Given the description of an element on the screen output the (x, y) to click on. 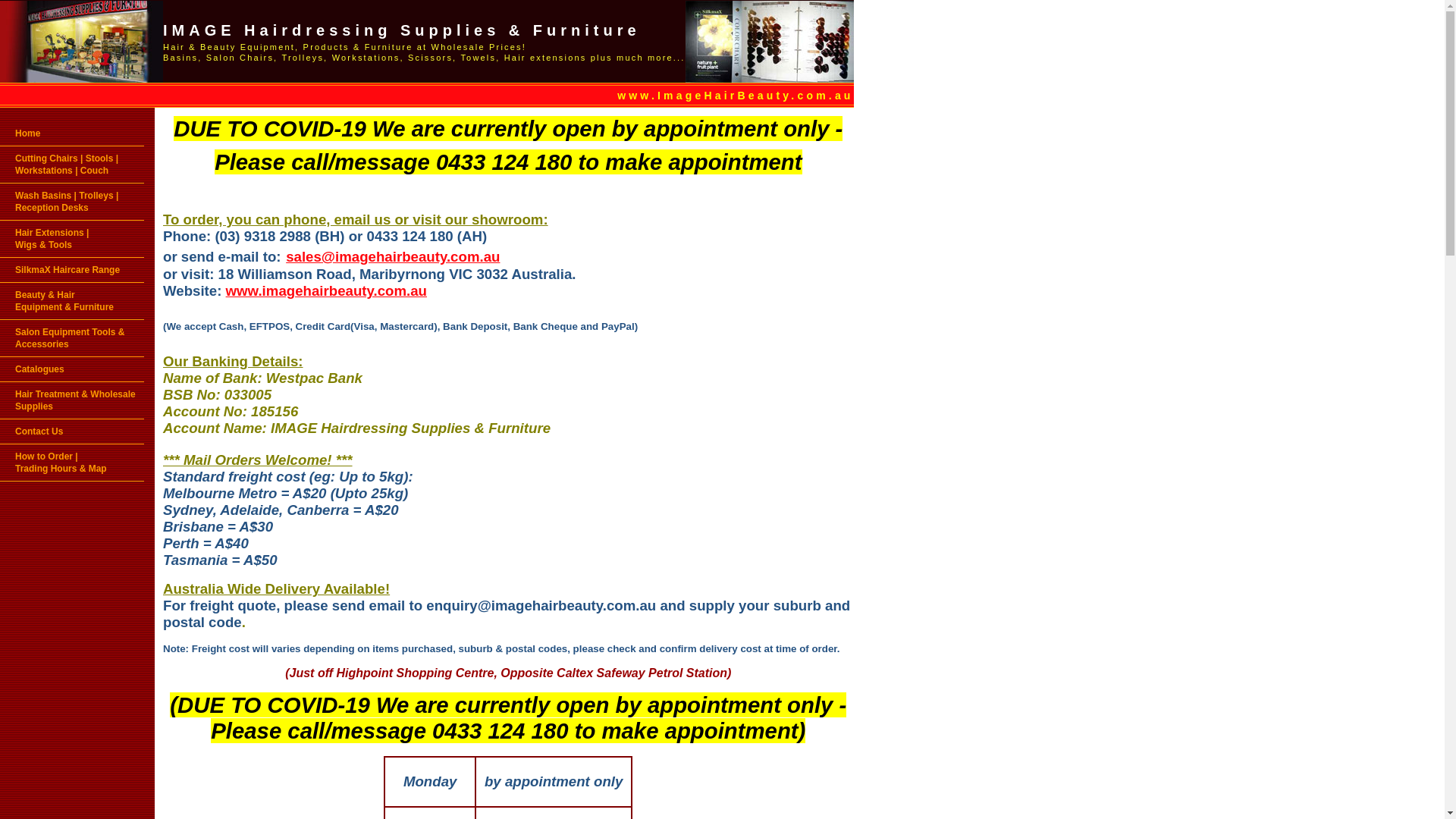
Cutting Chairs | Stools | Workstations | Couch Element type: text (72, 164)
How to Order |
Trading Hours & Map Element type: text (72, 462)
Catalogues Element type: text (72, 369)
sales@imagehairbeauty.com.au Element type: text (392, 256)
SilkmaX Haircare Range Element type: text (72, 269)
Salon Equipment Tools & Accessories Element type: text (72, 338)
Home Element type: text (72, 133)
www.imagehairbeauty.com.au Element type: text (325, 290)
Hair Treatment & Wholesale Supplies Element type: text (72, 400)
Beauty & Hair
Equipment & Furniture Element type: text (72, 300)
Hair Extensions |
Wigs & Tools Element type: text (72, 238)
Wash Basins | Trolleys |
Reception Desks Element type: text (72, 201)
Contact Us Element type: text (72, 431)
